Given the description of an element on the screen output the (x, y) to click on. 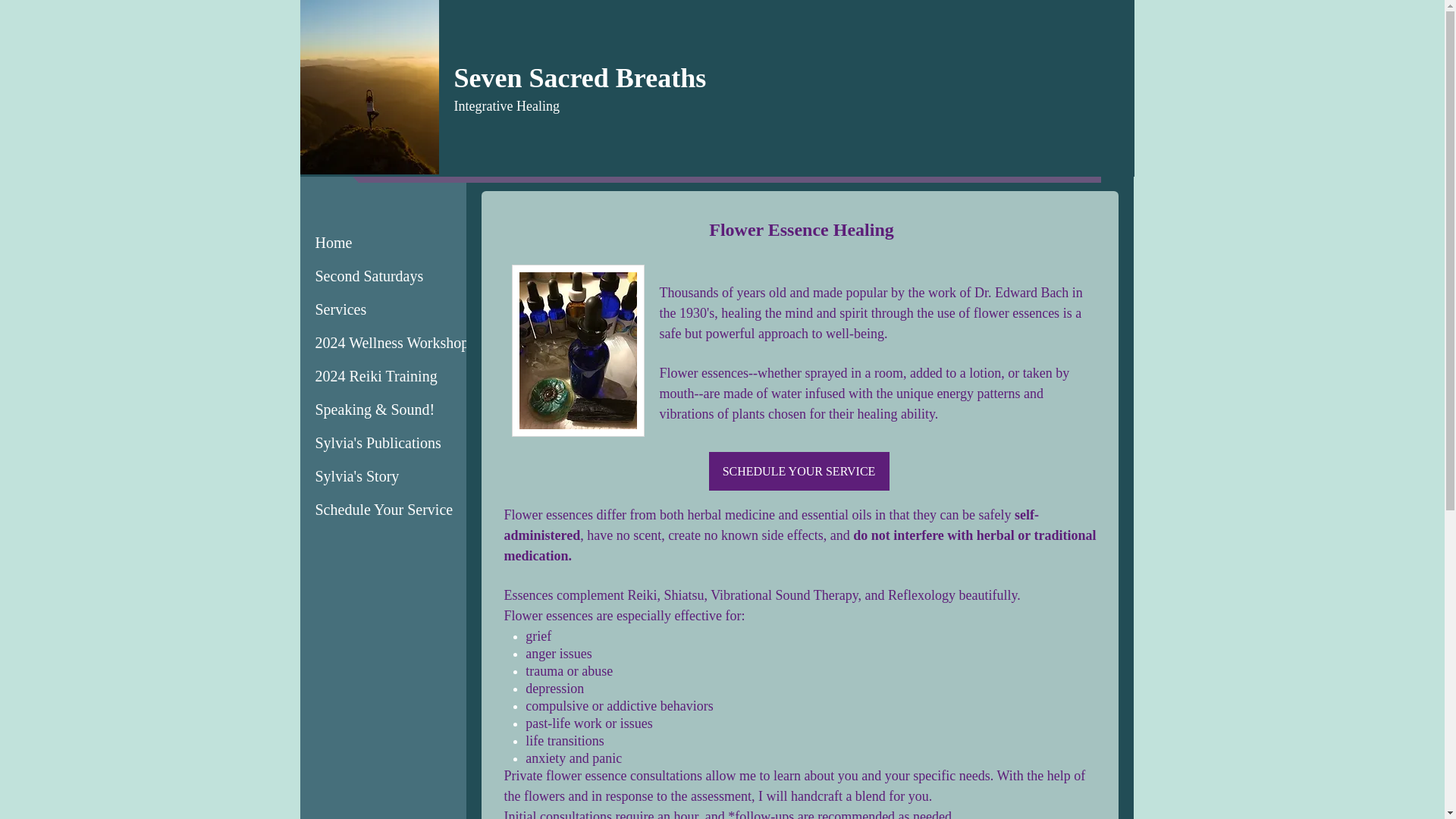
Schedule Your Service (384, 509)
Second Saturdays (368, 276)
Home (333, 242)
2024 Reiki Training (376, 376)
SCHEDULE YOUR SERVICE (797, 471)
2024 Wellness Workshops (395, 342)
Sylvia's Publications (377, 442)
Services (340, 309)
Sylvia's Story (357, 476)
